Given the description of an element on the screen output the (x, y) to click on. 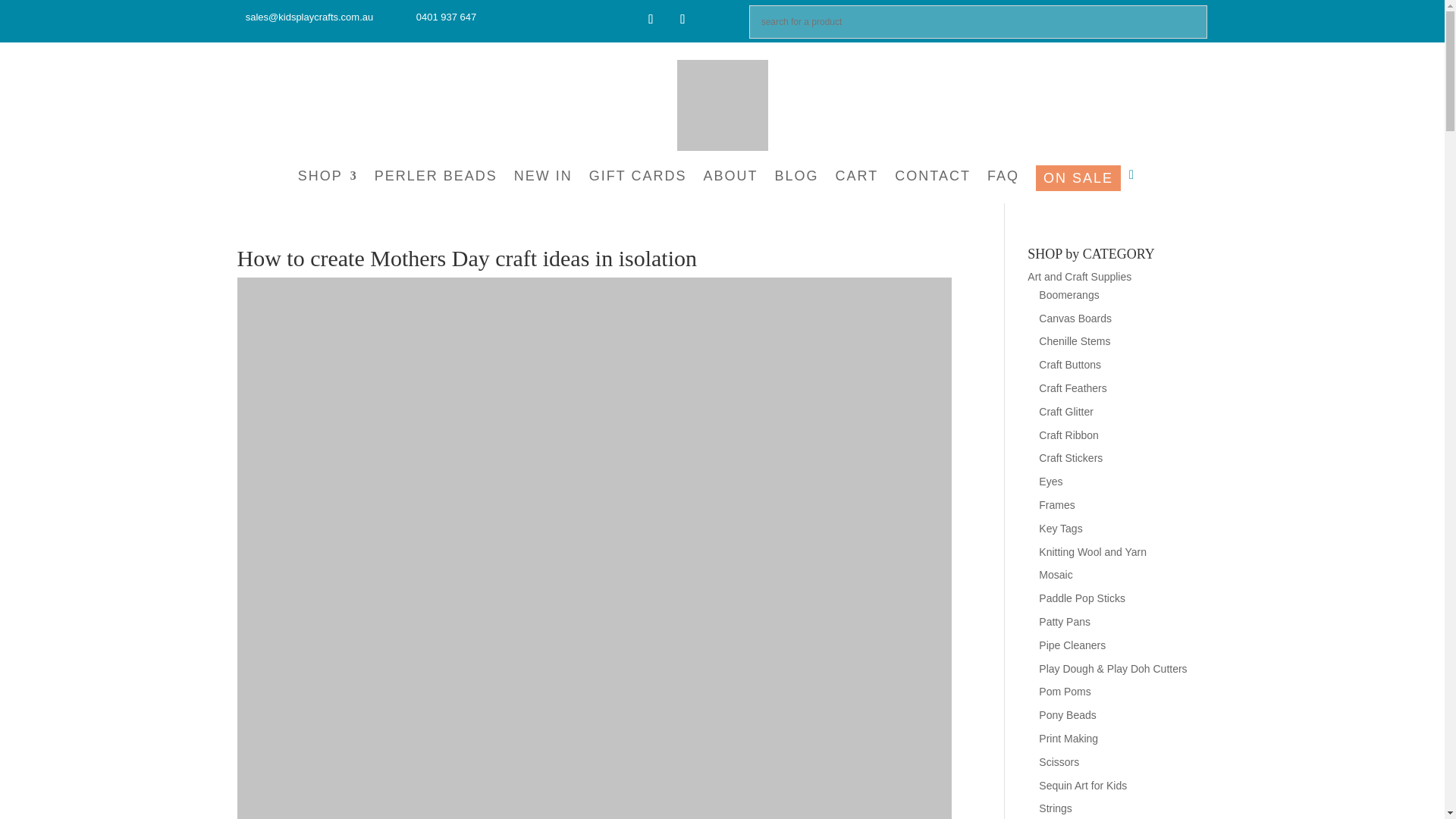
Follow on Facebook (650, 19)
SHOP (328, 180)
Follow on Instagram (682, 19)
